Given the description of an element on the screen output the (x, y) to click on. 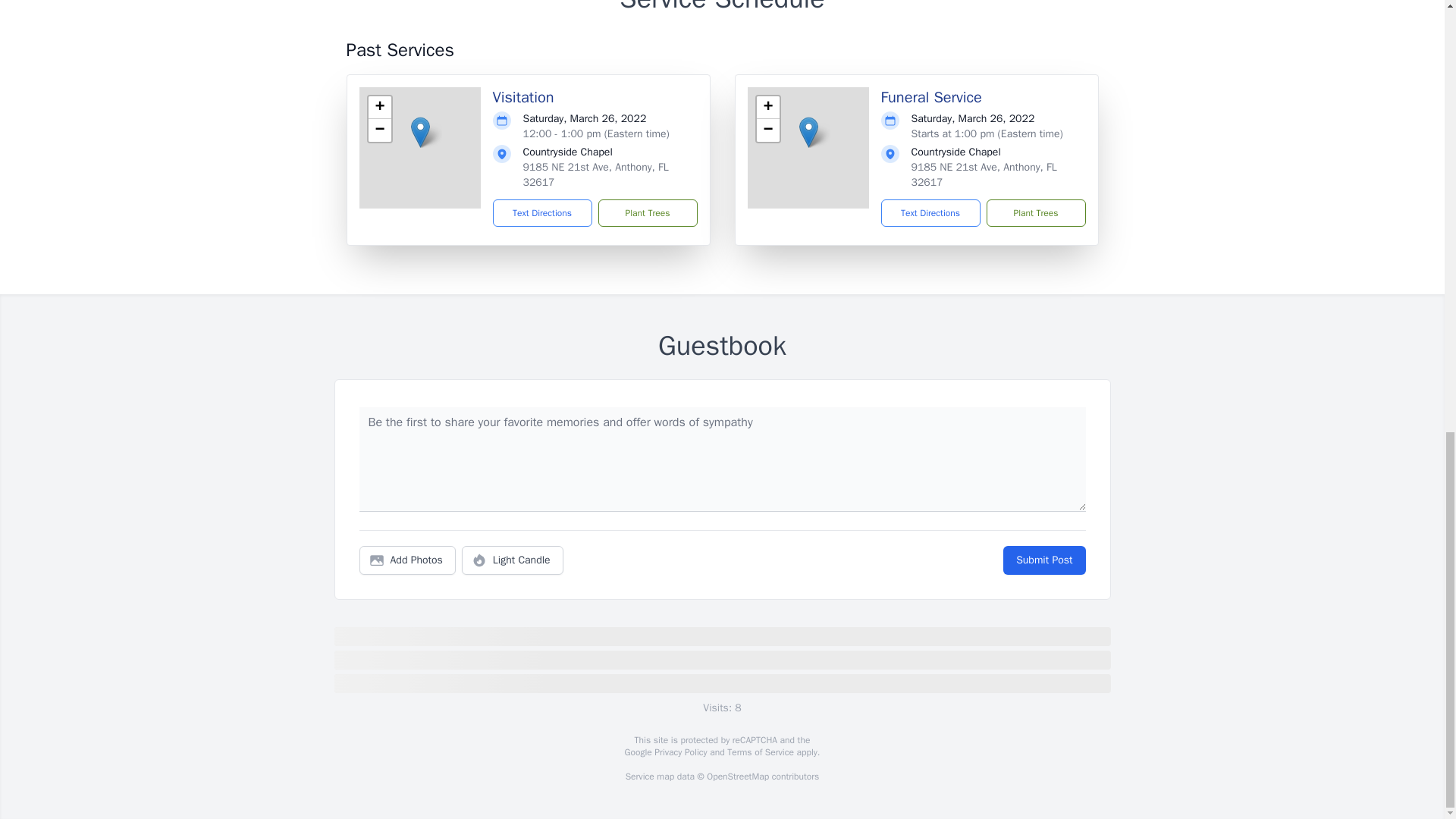
Terms of Service (759, 752)
Zoom out (767, 129)
9185 NE 21st Ave, Anthony, FL 32617 (595, 174)
OpenStreetMap (737, 776)
Add Photos (407, 560)
Submit Post (1043, 560)
Text Directions (929, 212)
Zoom out (379, 129)
Zoom in (767, 107)
Plant Trees (646, 212)
9185 NE 21st Ave, Anthony, FL 32617 (984, 174)
Light Candle (512, 560)
Privacy Policy (679, 752)
Plant Trees (1034, 212)
Zoom in (379, 107)
